Given the description of an element on the screen output the (x, y) to click on. 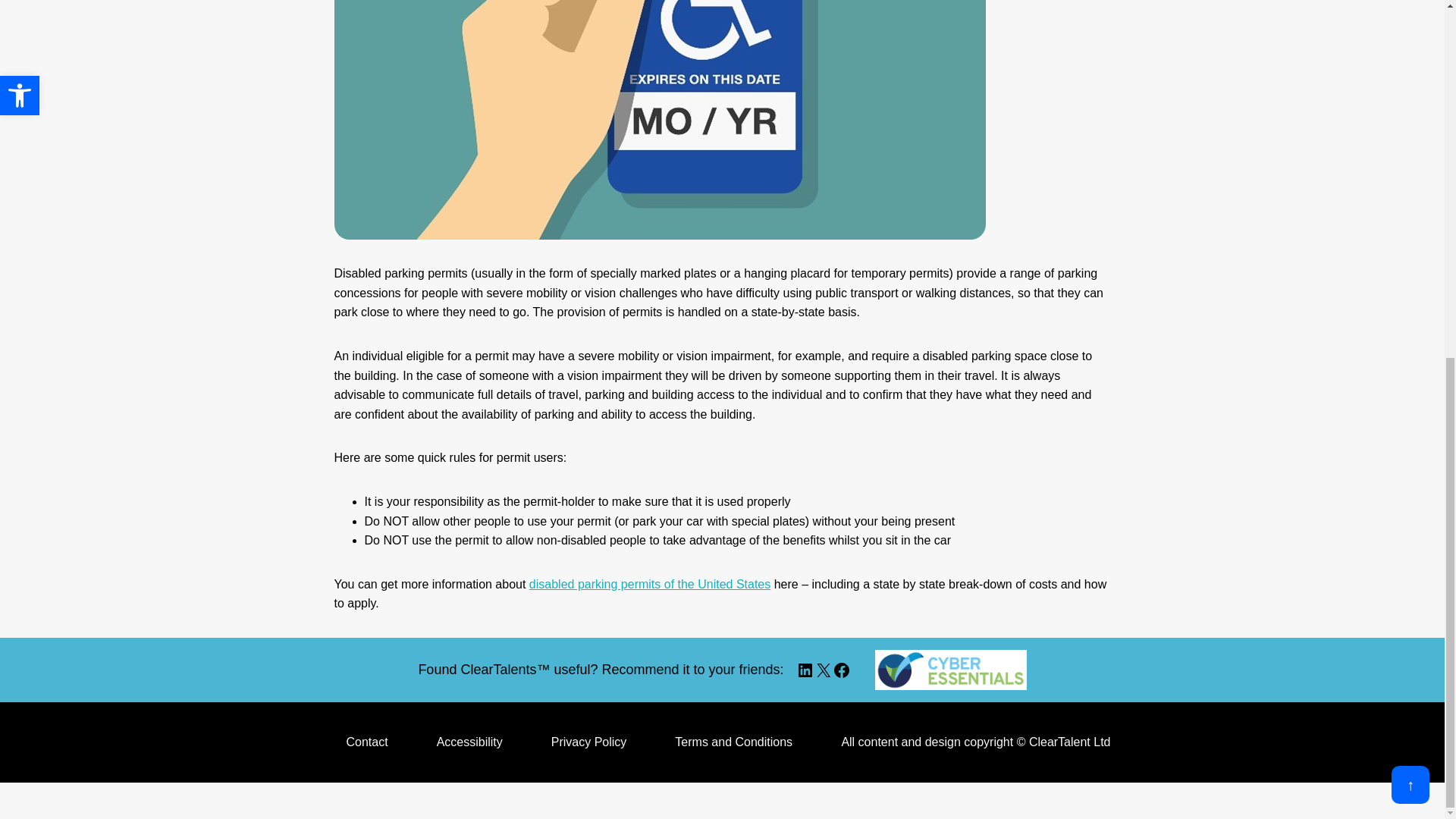
Back to Top (1410, 153)
X (822, 669)
disabled parking permits of the United States (649, 584)
LinkedIn (804, 669)
Facebook (841, 669)
